Given the description of an element on the screen output the (x, y) to click on. 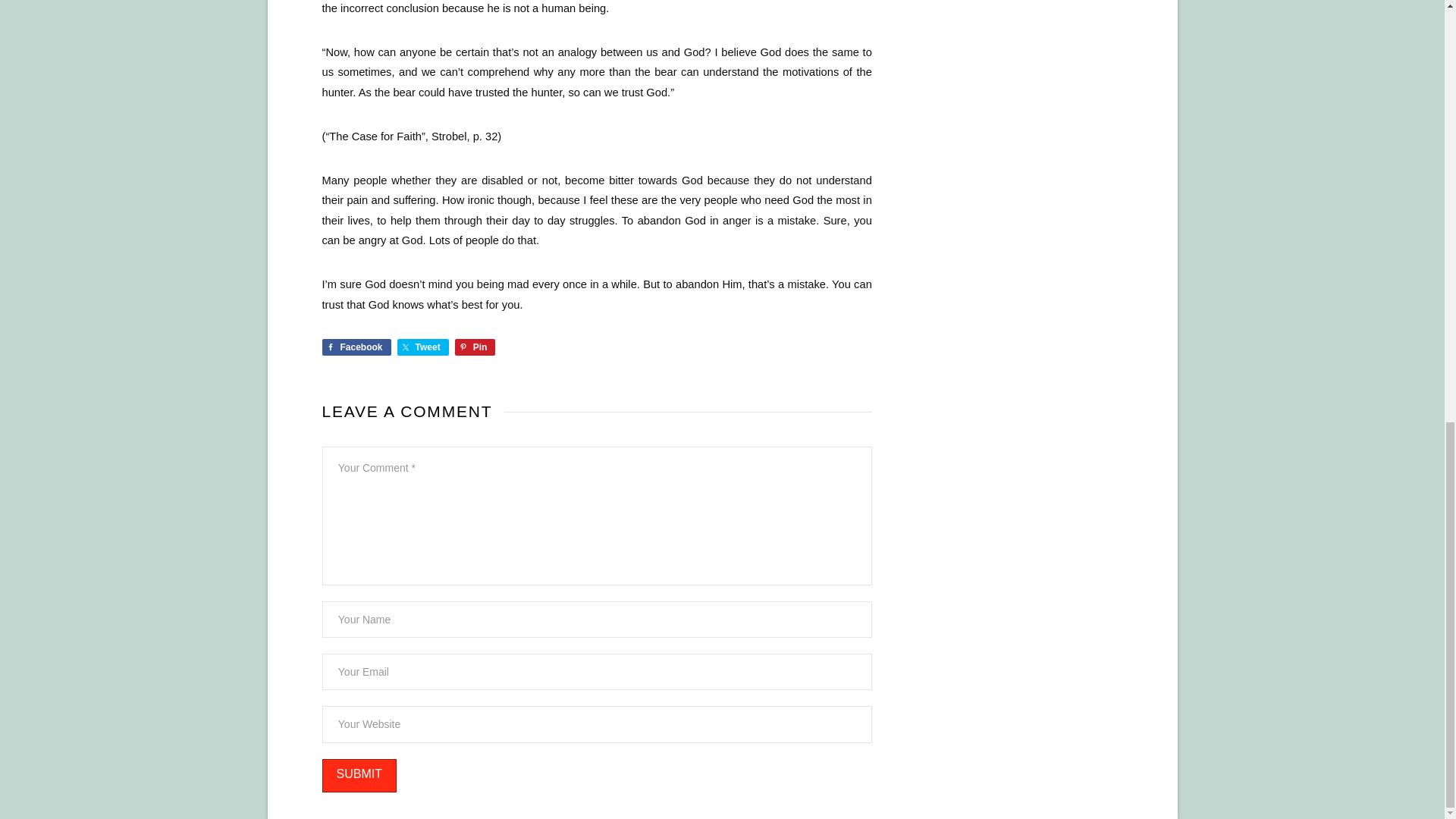
Share on Facebook (355, 347)
Submit (358, 776)
Share on Twitter (422, 347)
Share on Pinterest (475, 347)
